Given the description of an element on the screen output the (x, y) to click on. 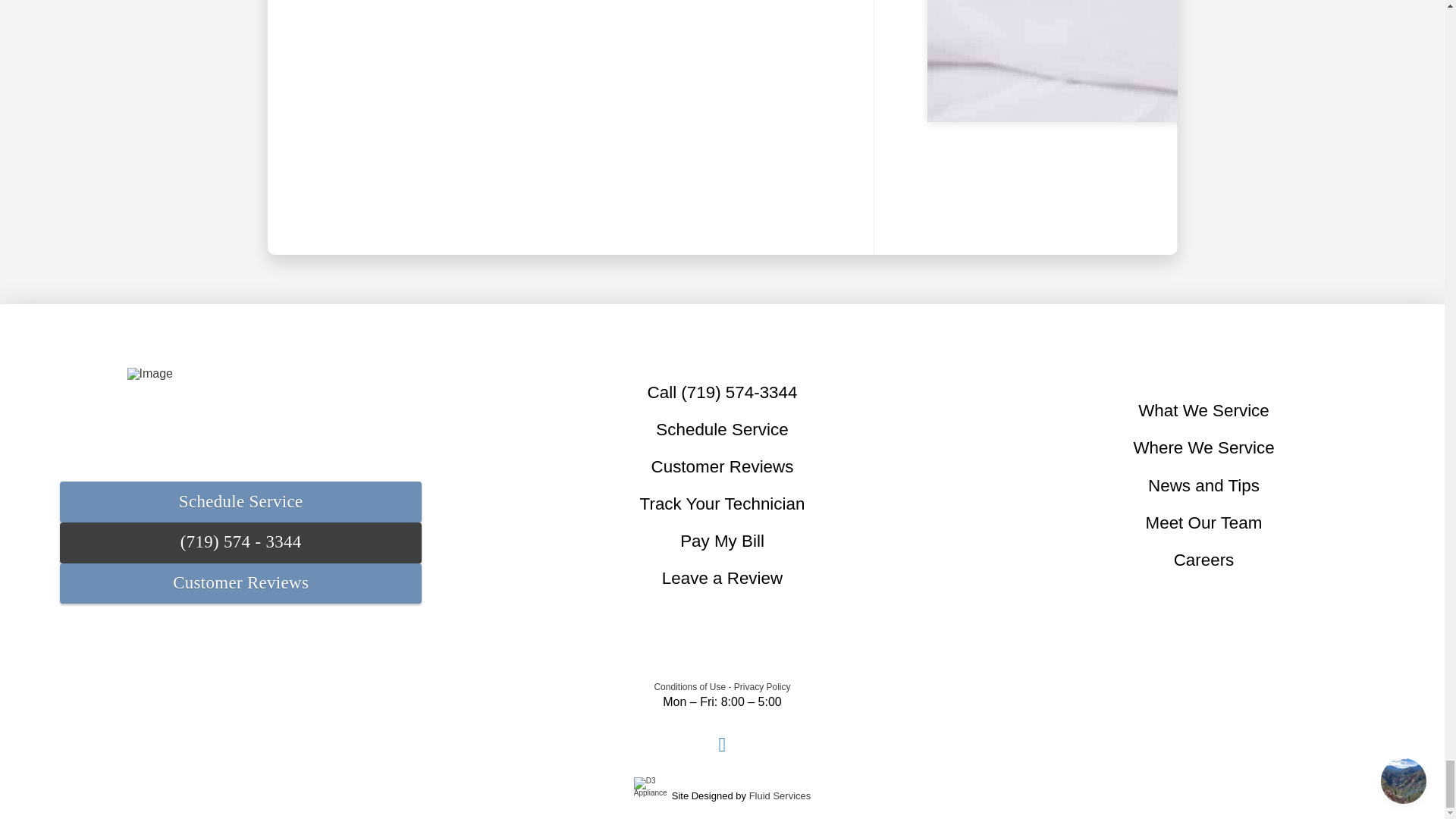
Customer Reviews (239, 583)
Leave a Review (721, 578)
What We Service (1203, 411)
Schedule Service (239, 501)
Customer Reviews (721, 467)
Track Your Technician (721, 504)
Where We Service (1203, 447)
Schedule Service (721, 429)
Pay My Bill (721, 541)
